Given the description of an element on the screen output the (x, y) to click on. 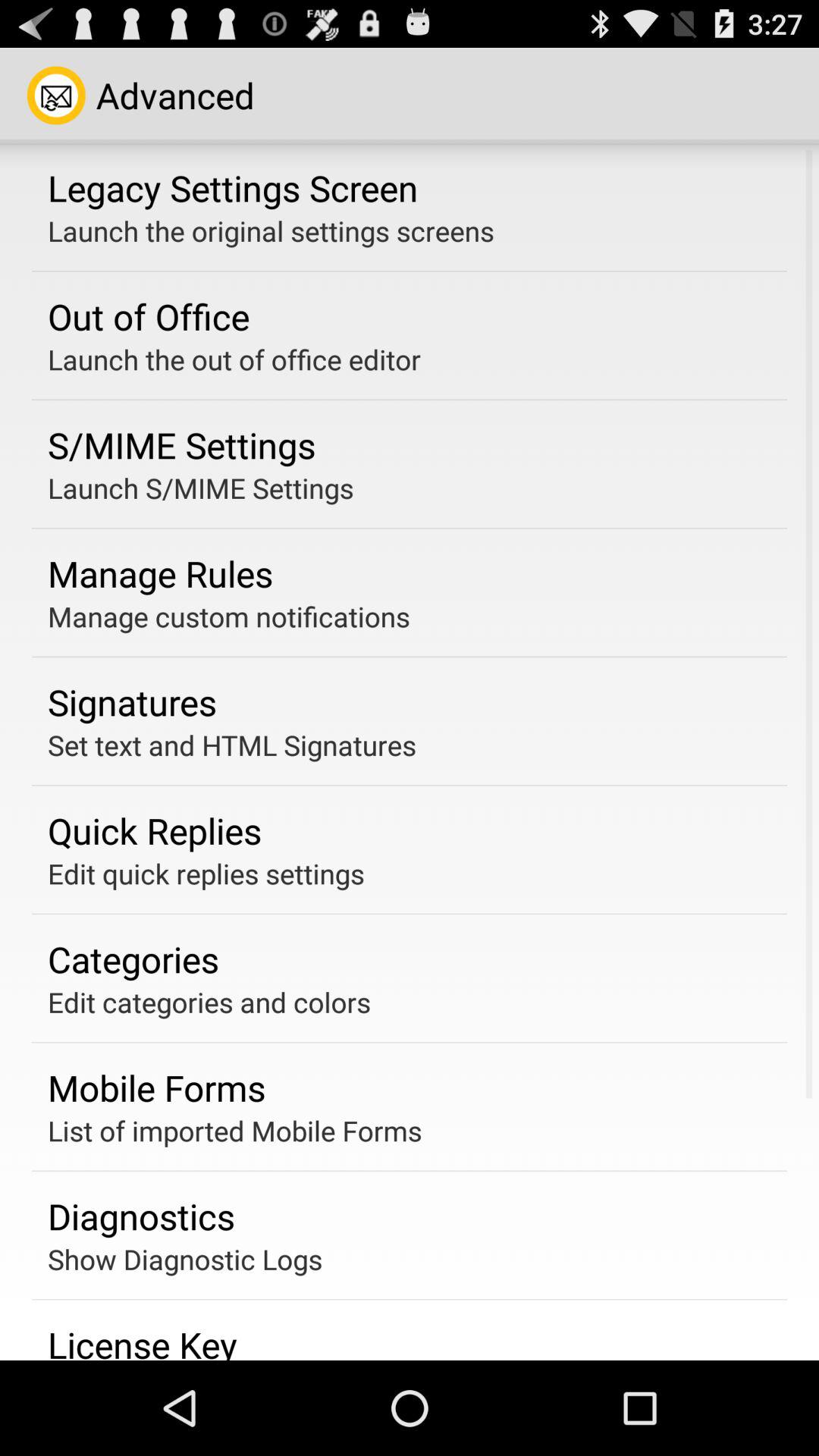
click icon below the diagnostics app (184, 1258)
